Given the description of an element on the screen output the (x, y) to click on. 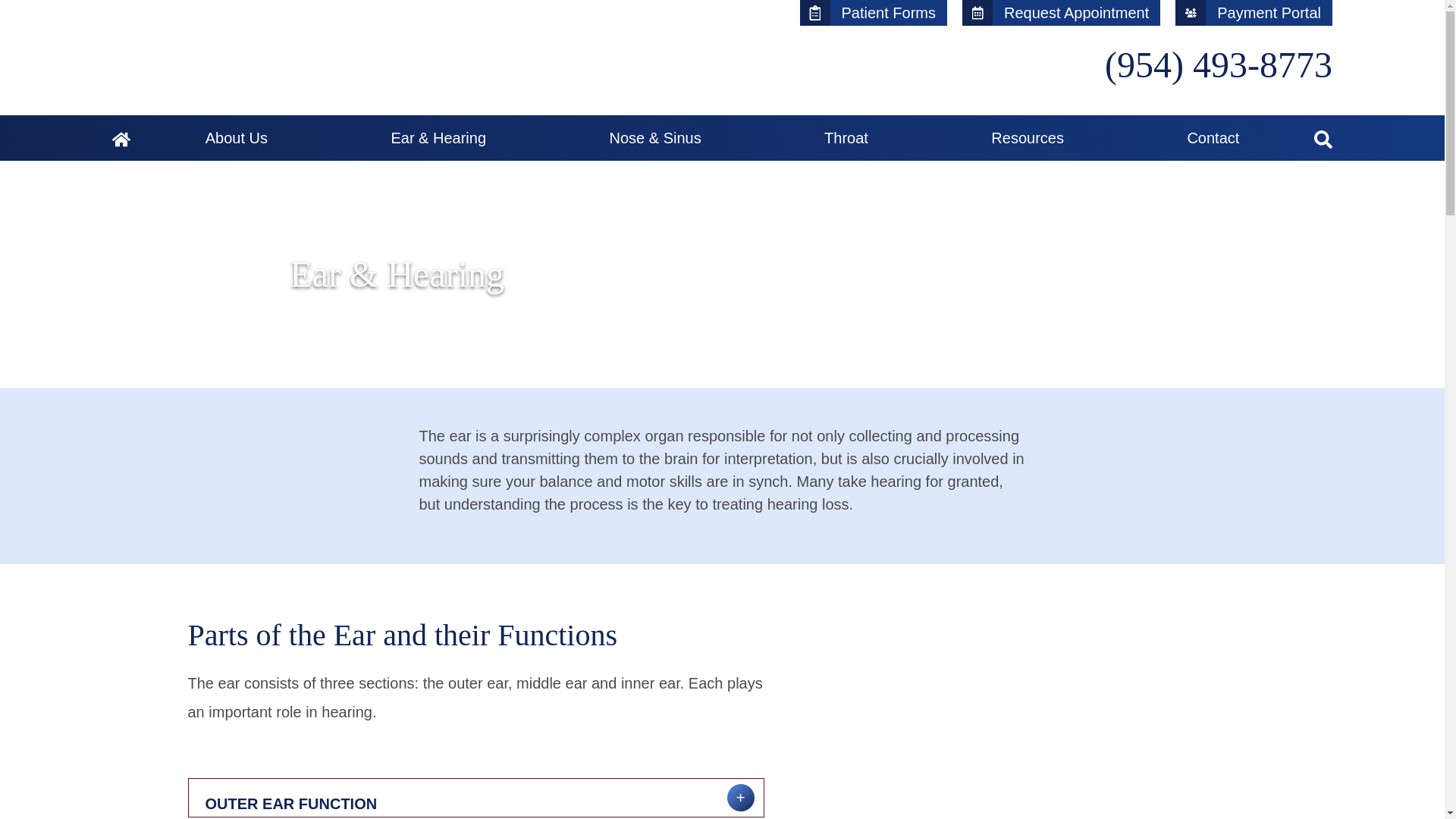
Payment Portal (1253, 12)
Patient Forms (873, 12)
Request Appointment (1061, 12)
About Us (244, 137)
